Given the description of an element on the screen output the (x, y) to click on. 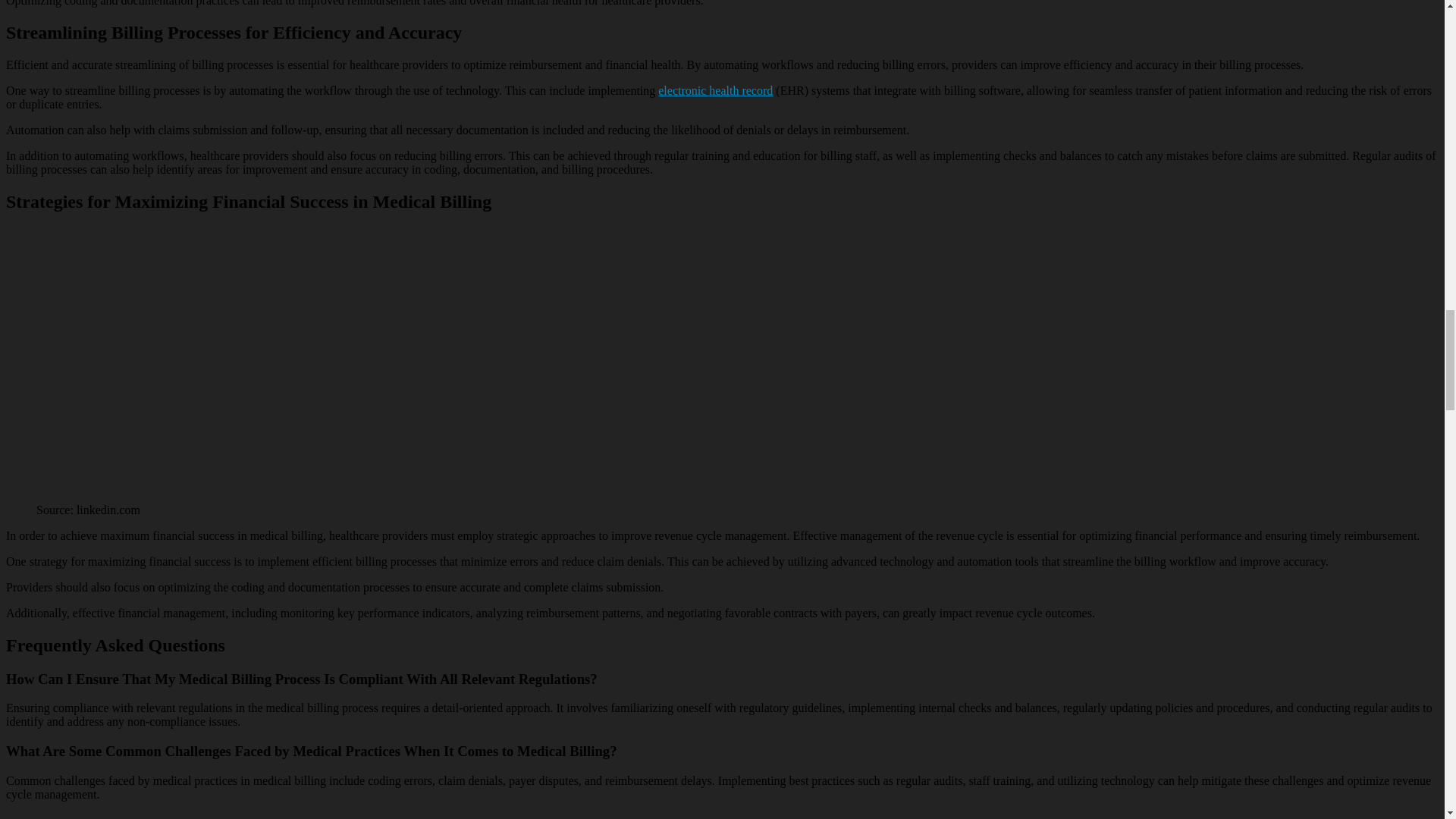
electronic health record (715, 90)
